Given the description of an element on the screen output the (x, y) to click on. 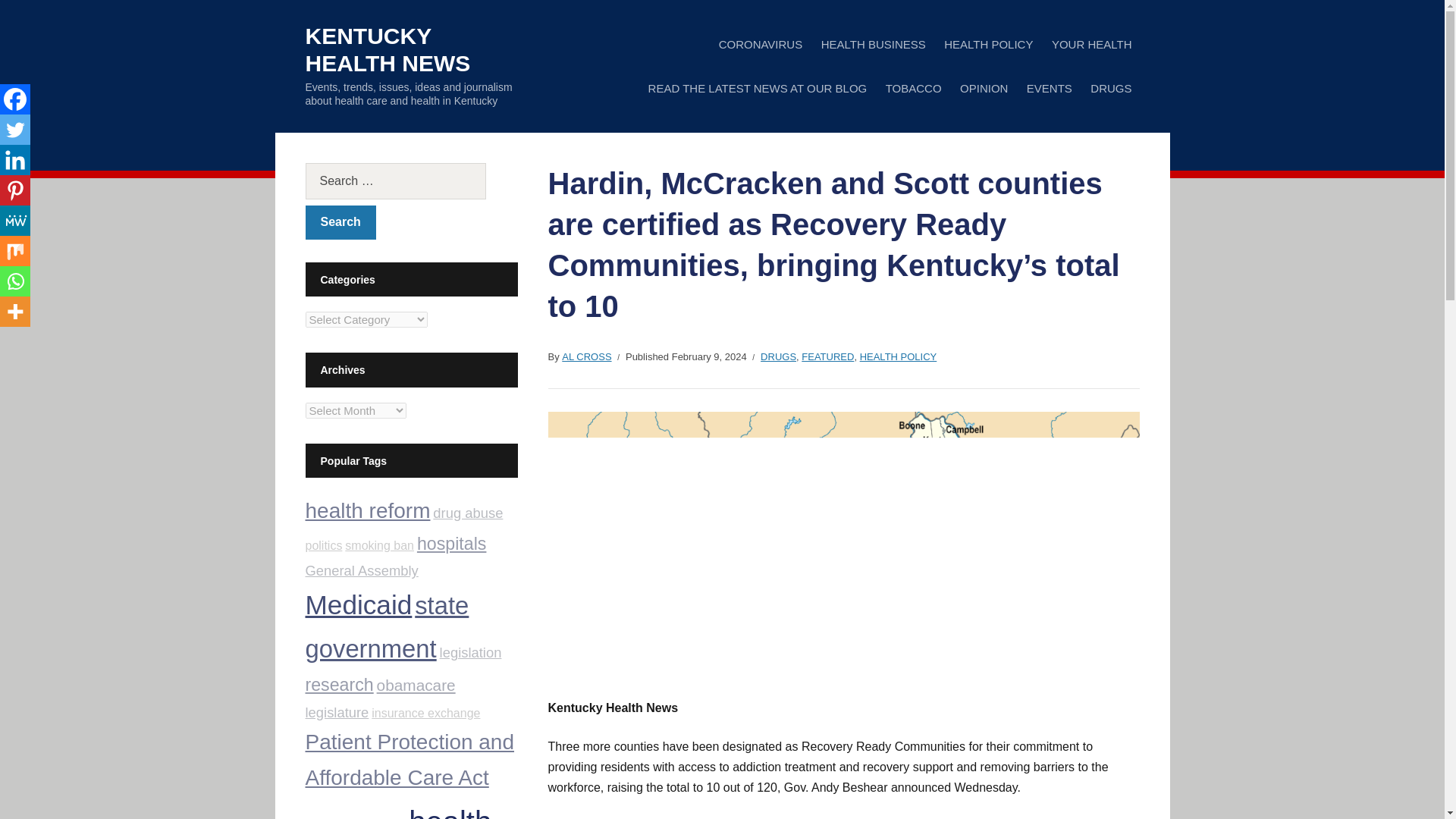
KENTUCKY HEALTH NEWS (387, 49)
HEALTH POLICY (987, 44)
Facebook (15, 99)
Whatsapp (15, 281)
HEALTH BUSINESS (873, 44)
HEALTH POLICY (898, 357)
DRUGS (1110, 88)
CORONAVIRUS (761, 44)
FEATURED (827, 357)
AL CROSS (586, 357)
OPINION (983, 88)
Pinterest (15, 190)
Twitter (15, 129)
MeWe (15, 220)
Search (339, 222)
